Given the description of an element on the screen output the (x, y) to click on. 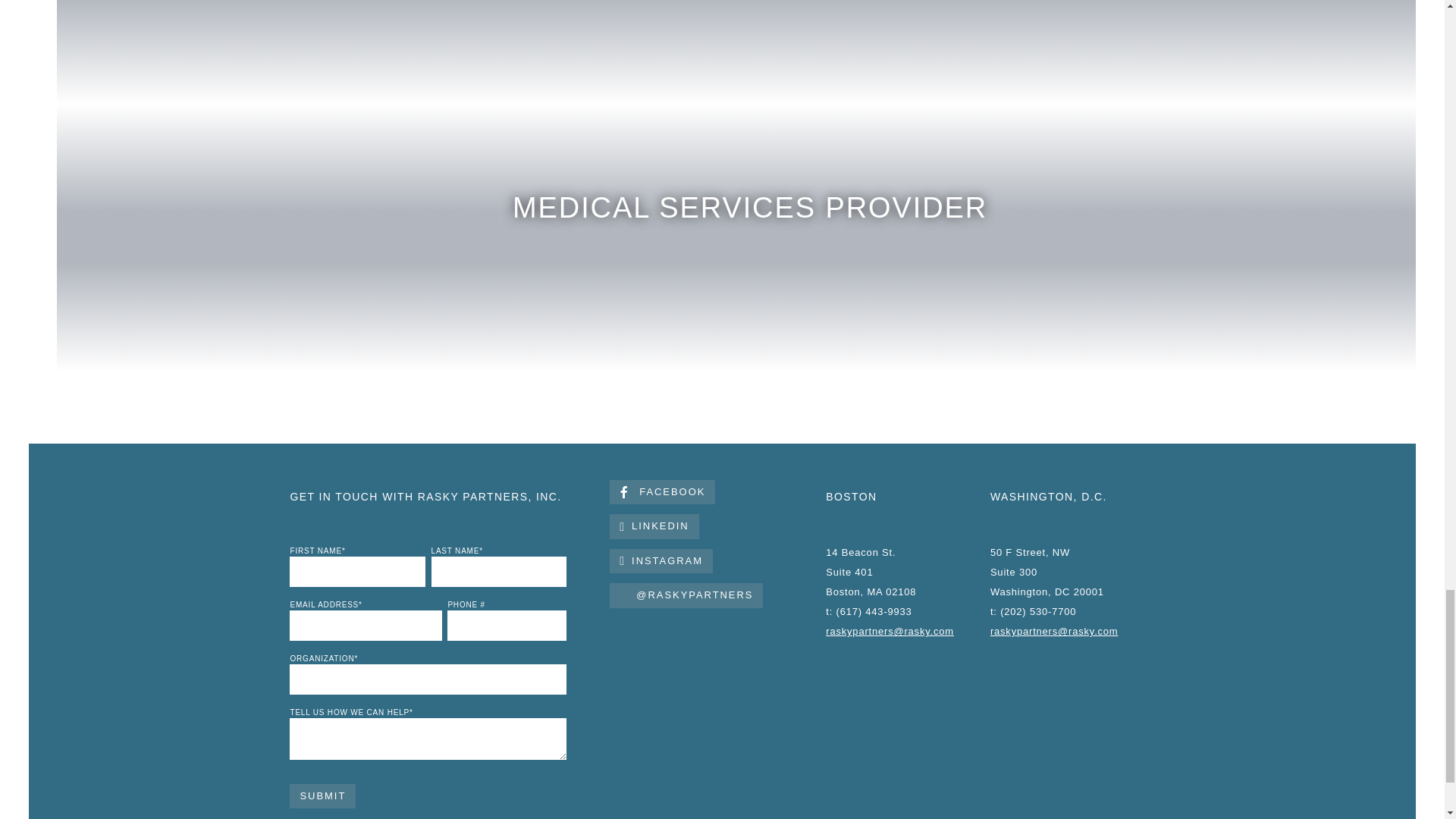
INSTAGRAM (661, 561)
FACEBOOK (662, 492)
GET IN TOUCH WITH RASKY PARTNERS, INC. (424, 496)
Submit (322, 796)
Submit (322, 796)
LINKEDIN (654, 526)
